Given the description of an element on the screen output the (x, y) to click on. 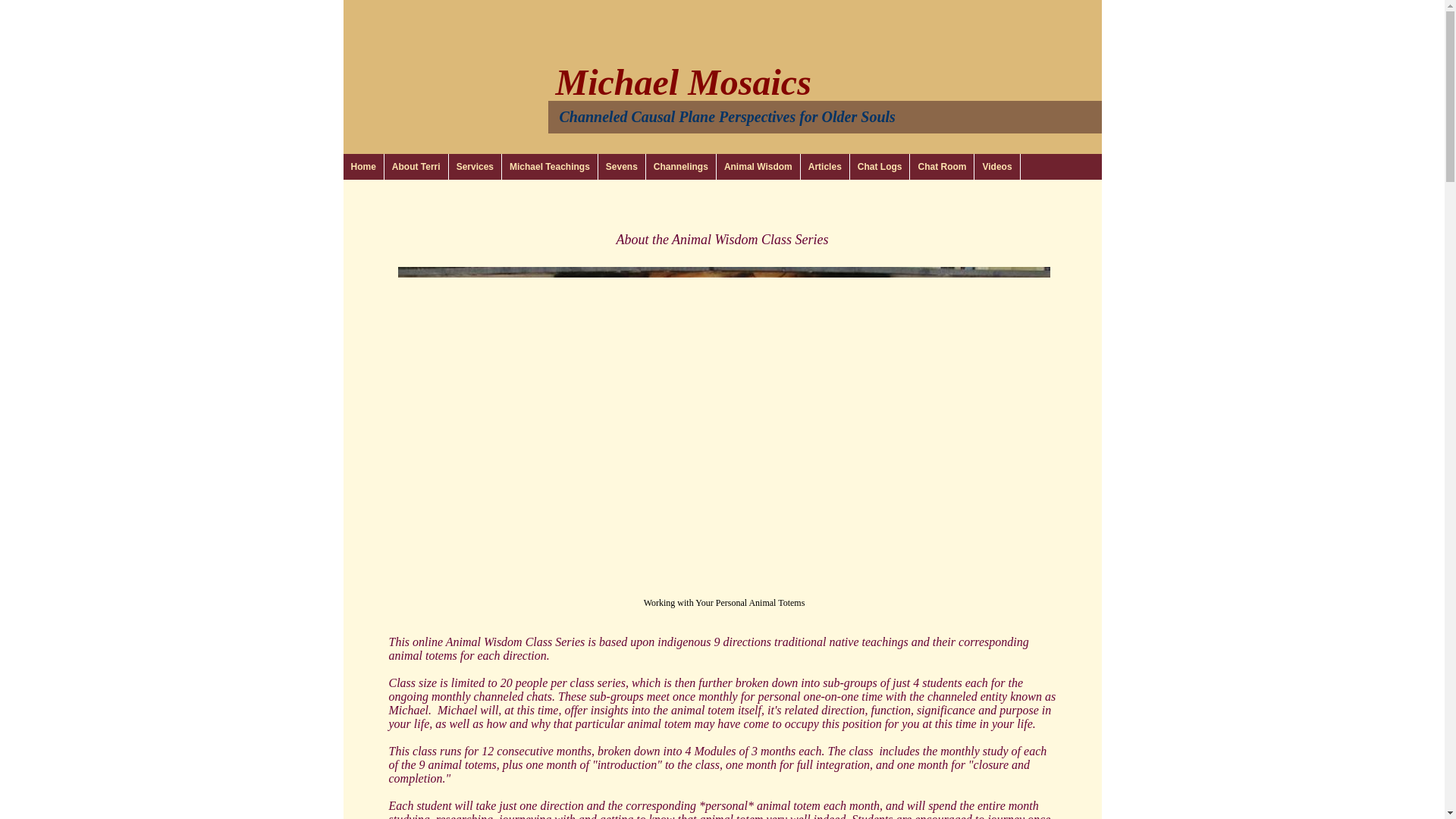
Chat Logs (880, 166)
Chat Room (942, 166)
Articles (825, 166)
Videos (997, 166)
Sevens (622, 166)
Michael Teachings (550, 166)
Animal Wisdom (758, 166)
Services (475, 166)
Home (363, 166)
Channelings (681, 166)
